Given the description of an element on the screen output the (x, y) to click on. 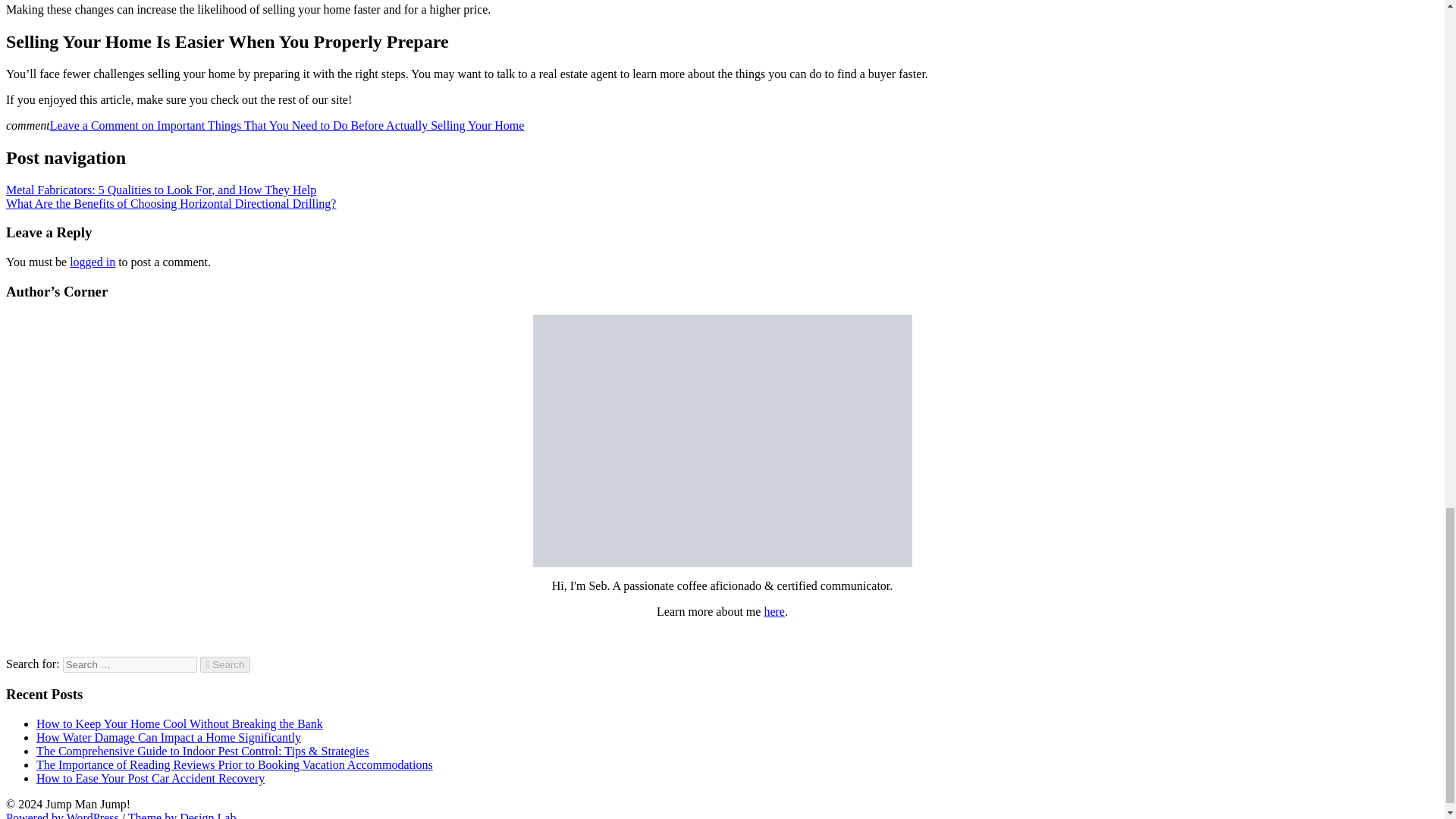
How to Ease Your Post Car Accident Recovery (150, 778)
How Water Damage Can Impact a Home Significantly (168, 737)
here (773, 611)
How to Keep Your Home Cool Without Breaking the Bank (179, 723)
logged in (92, 261)
